Given the description of an element on the screen output the (x, y) to click on. 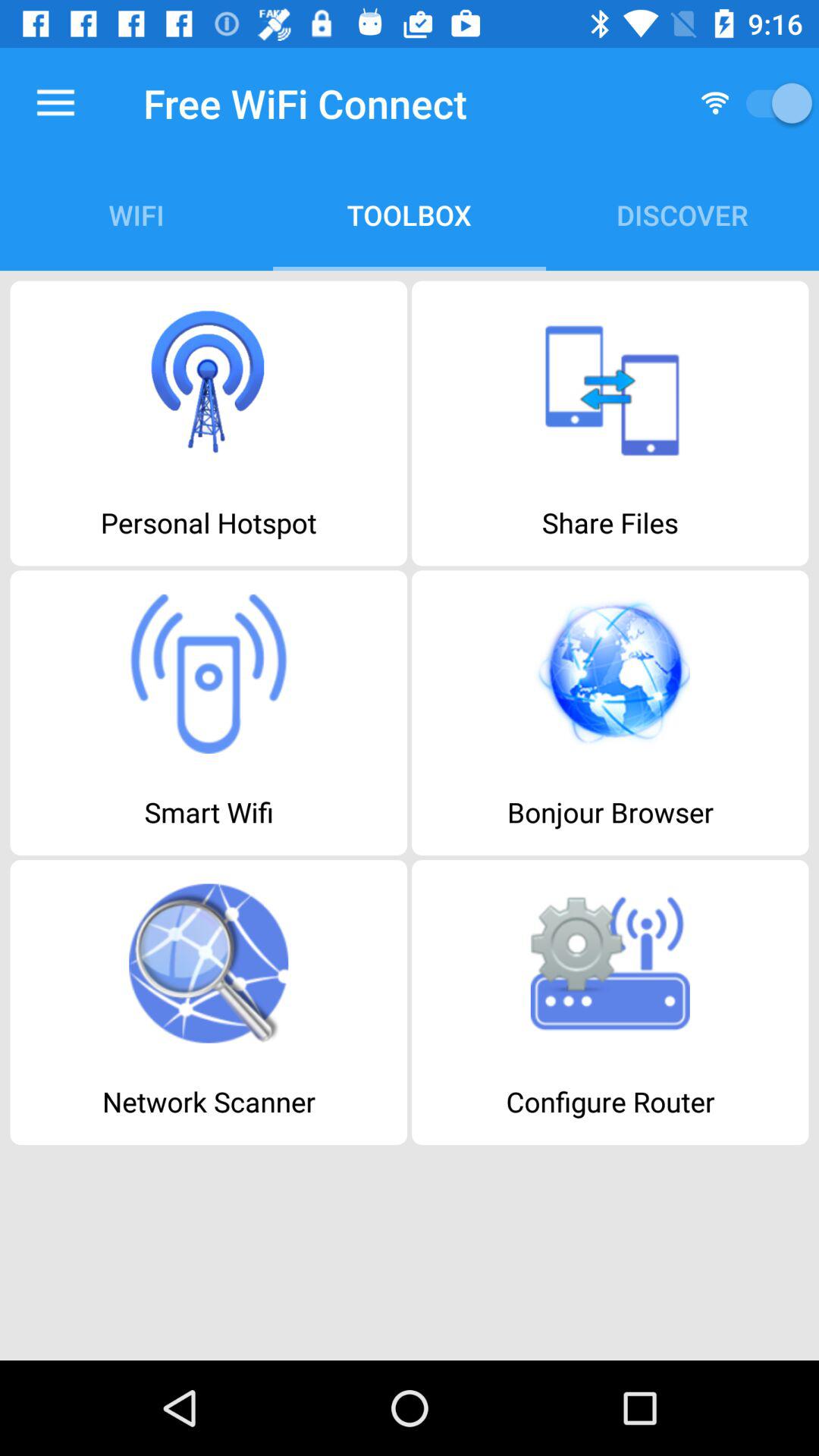
turn off the icon to the left of the free wifi connect (55, 103)
